Given the description of an element on the screen output the (x, y) to click on. 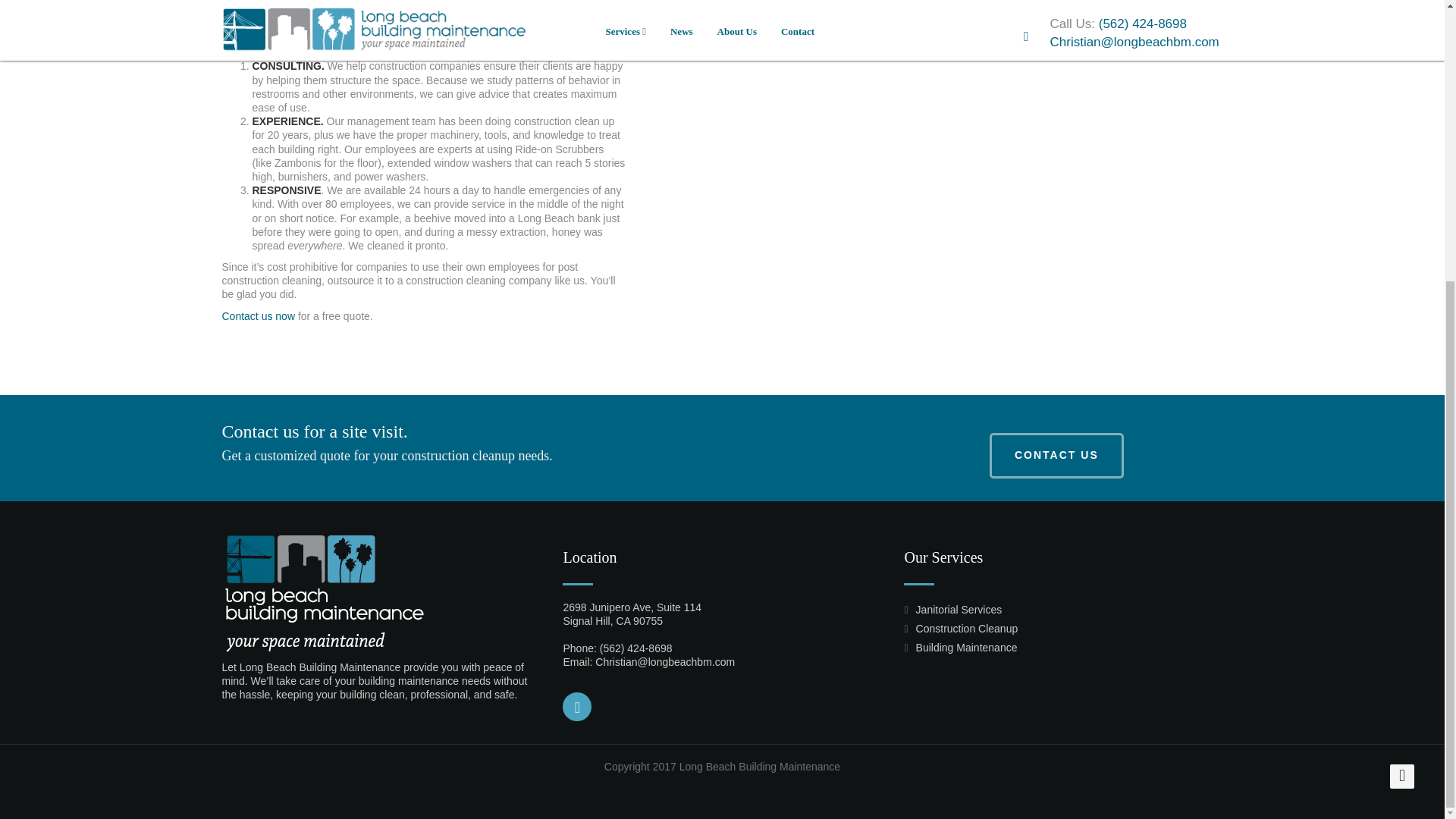
Janitorial Services (959, 609)
Building Maintenance (966, 647)
Contact us now (258, 316)
Long Beach Building Maintenance (322, 591)
CONTACT US (1057, 455)
Construction Cleanup (966, 628)
Contact Us (1057, 455)
